Given the description of an element on the screen output the (x, y) to click on. 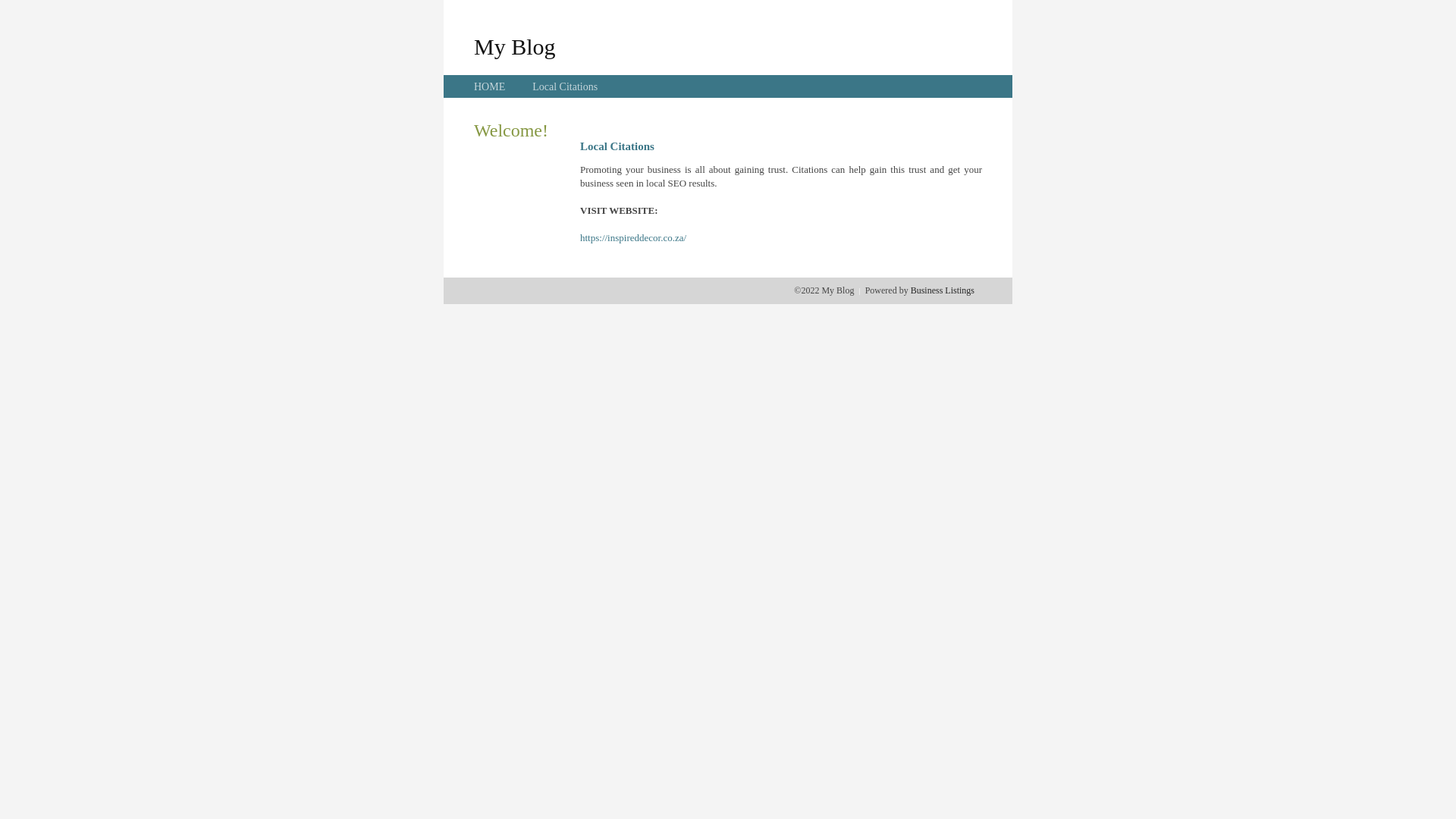
https://inspireddecor.co.za/ Element type: text (633, 237)
HOME Element type: text (489, 86)
My Blog Element type: text (514, 46)
Business Listings Element type: text (942, 290)
Local Citations Element type: text (564, 86)
